Given the description of an element on the screen output the (x, y) to click on. 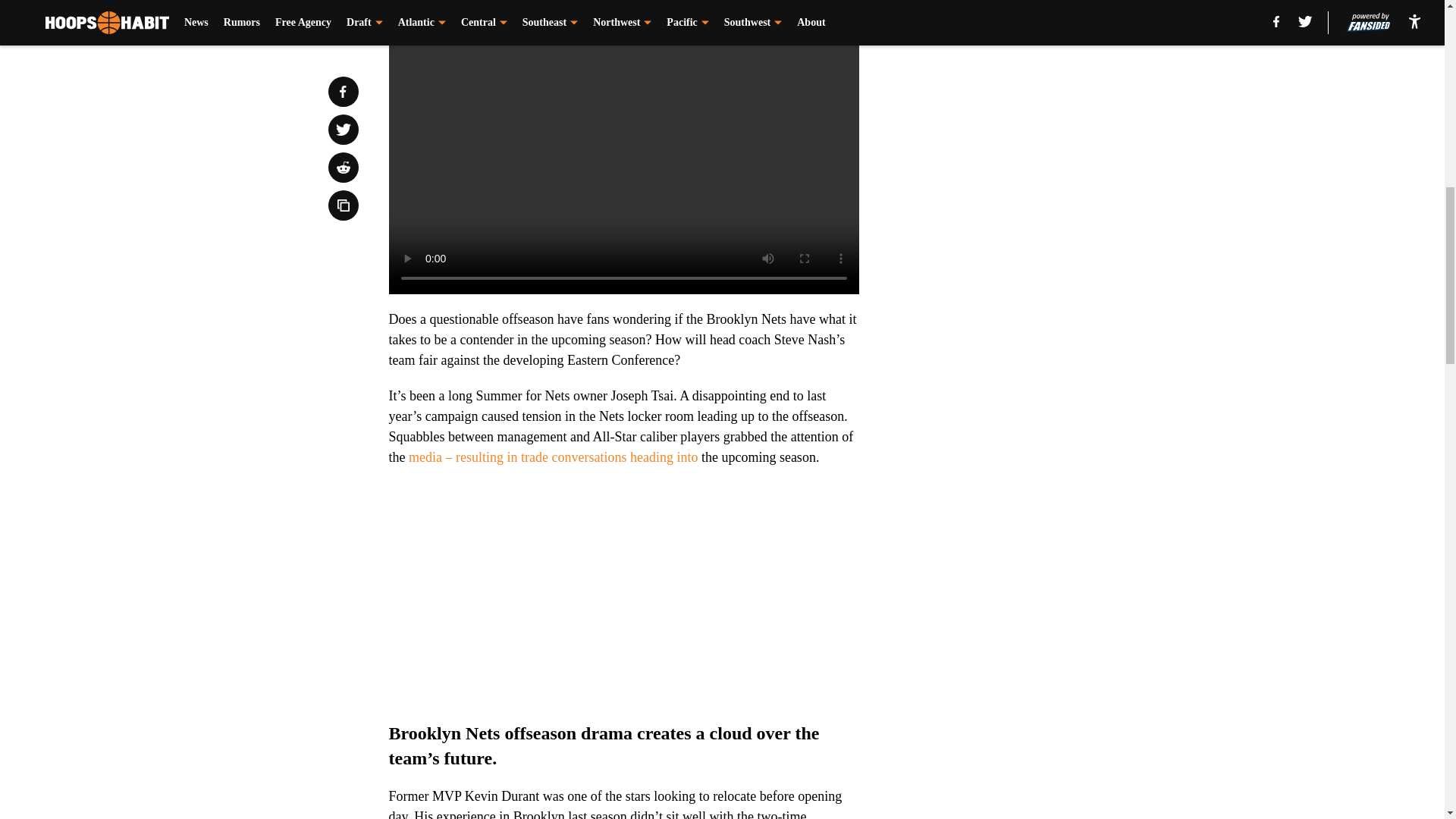
3rd party ad content (1047, 344)
3rd party ad content (1047, 125)
